Given the description of an element on the screen output the (x, y) to click on. 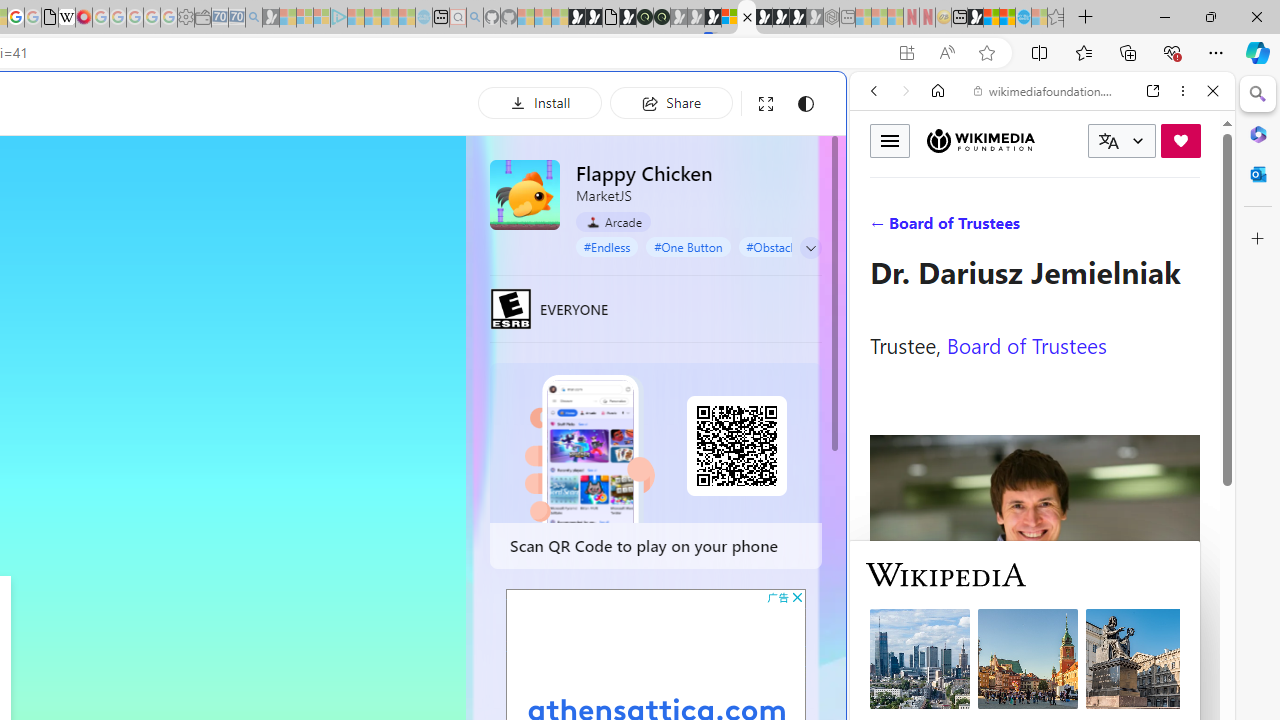
Close Outlook pane (1258, 174)
Install (540, 102)
MSN (975, 17)
Minimize (1164, 16)
Search Filter, IMAGES (939, 228)
Change to dark mode (805, 103)
New tab - Sleeping (847, 17)
Close split screen (844, 102)
Bing Real Estate - Home sales and rental listings - Sleeping (253, 17)
This site scope (936, 180)
